Given the description of an element on the screen output the (x, y) to click on. 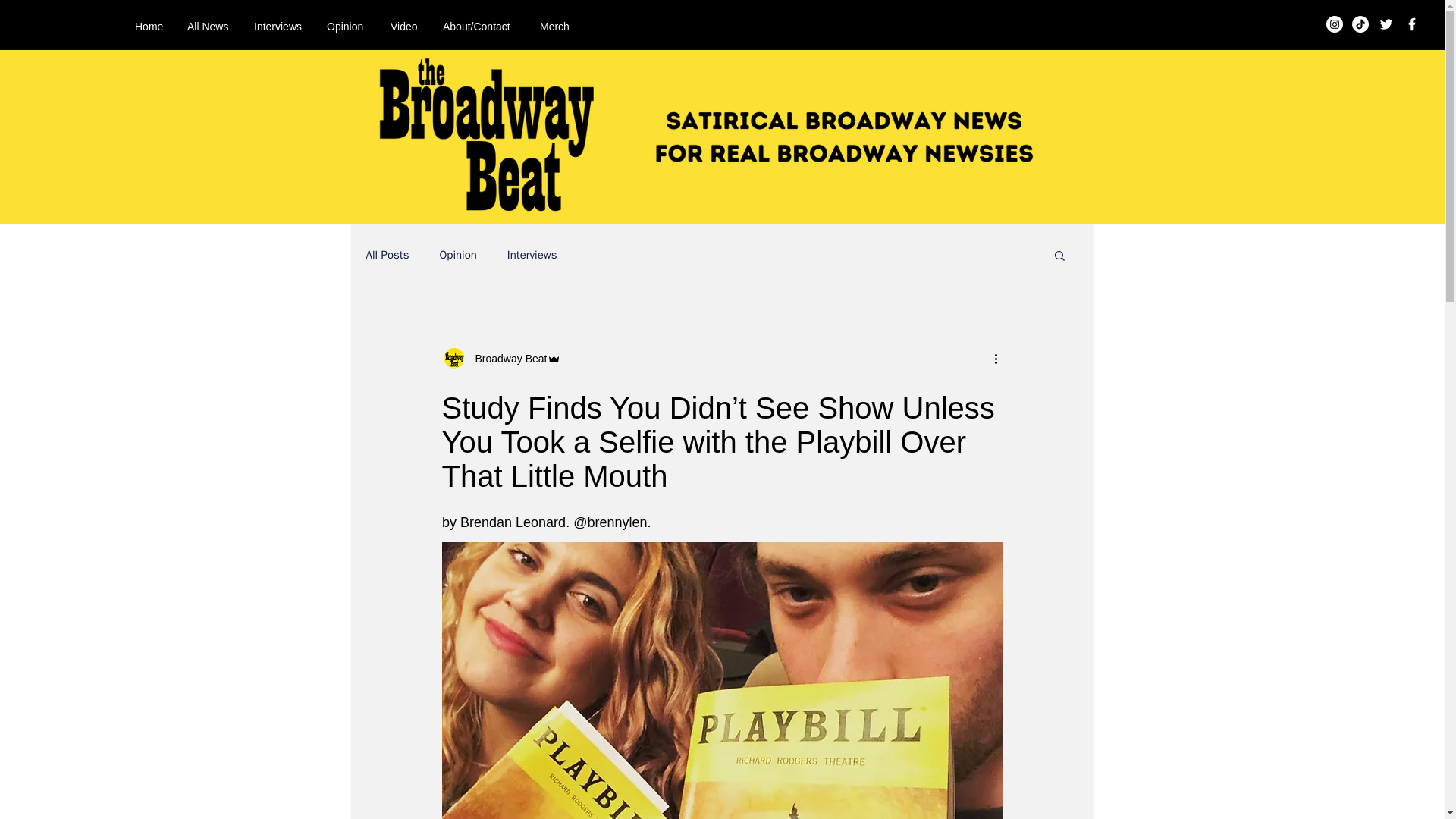
Interviews (531, 254)
Broadway Beat (506, 358)
Merch (555, 26)
Video (404, 26)
Opinion (346, 26)
Interviews (279, 26)
All News (209, 26)
Opinion (457, 254)
All Posts (387, 254)
Home (149, 26)
